Given the description of an element on the screen output the (x, y) to click on. 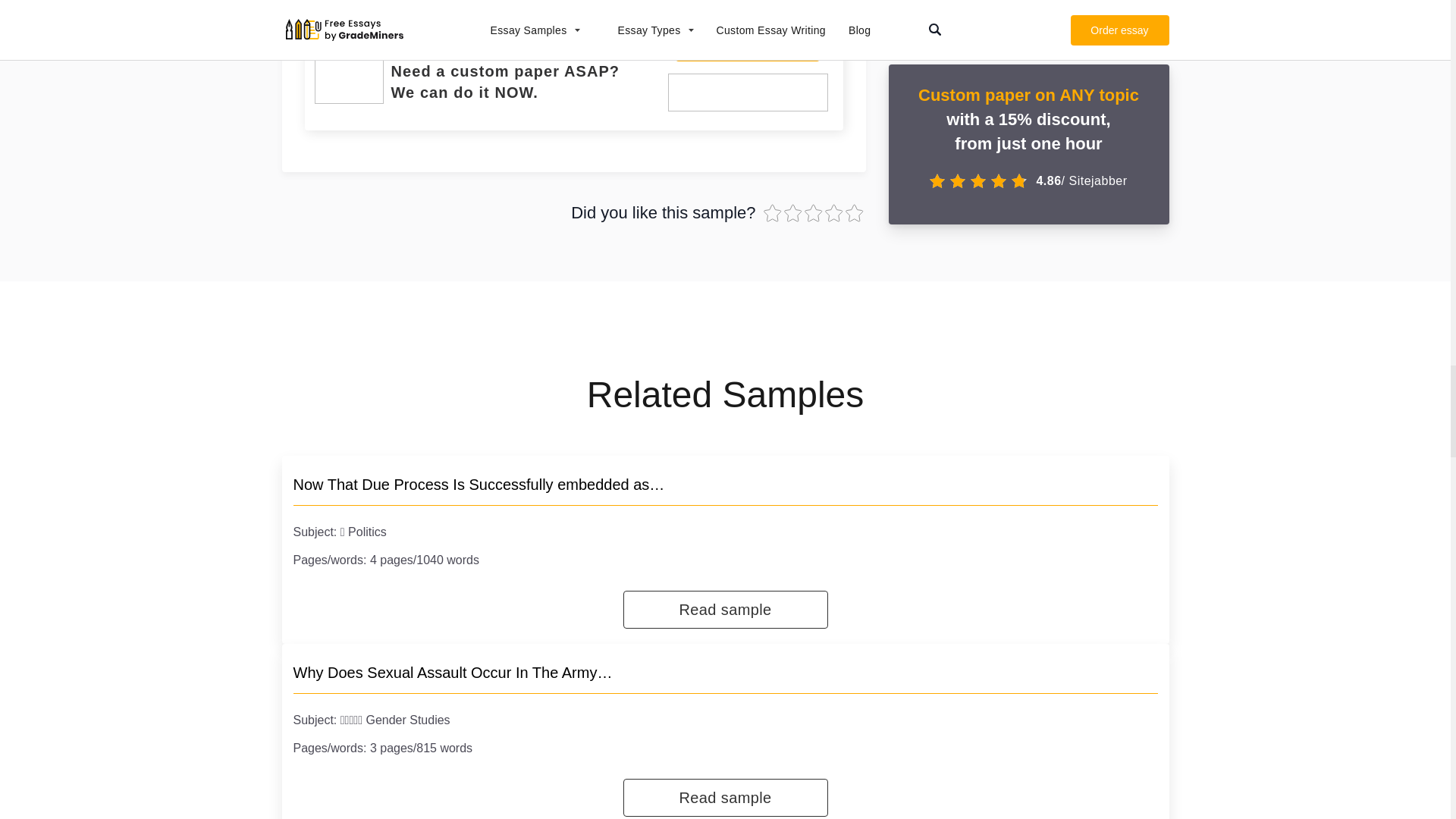
Why Does Sexual Assault Occur In The Army Essay (451, 672)
16 votes, average: 4,8 out of 5 (854, 212)
16 votes, average: 4,8 out of 5 (835, 212)
16 votes, average: 4,8 out of 5 (772, 212)
16 votes, average: 4,8 out of 5 (794, 212)
16 votes, average: 4,8 out of 5 (813, 212)
